Given the description of an element on the screen output the (x, y) to click on. 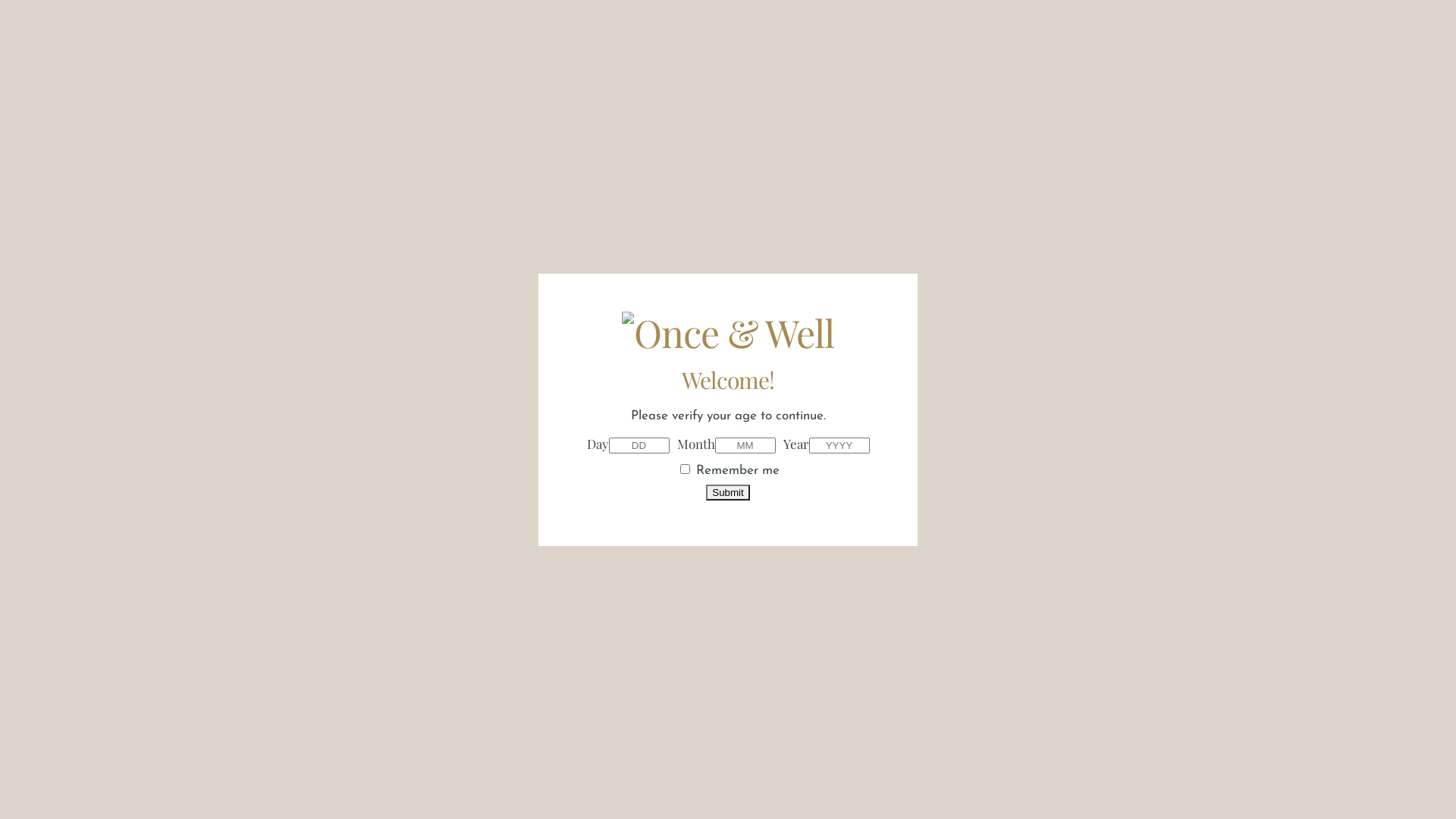
Home Element type: text (818, 29)
Why Margaret River produces such great chardonnay Element type: text (604, 701)
Region Element type: text (1016, 29)
Blog Element type: text (1078, 29)
Contact Element type: text (1144, 29)
Submit Element type: text (727, 491)
About Element type: text (882, 29)
Why Margaret River produces such great chardonnay Element type: hover (728, 361)
Wines Element type: text (948, 29)
